Given the description of an element on the screen output the (x, y) to click on. 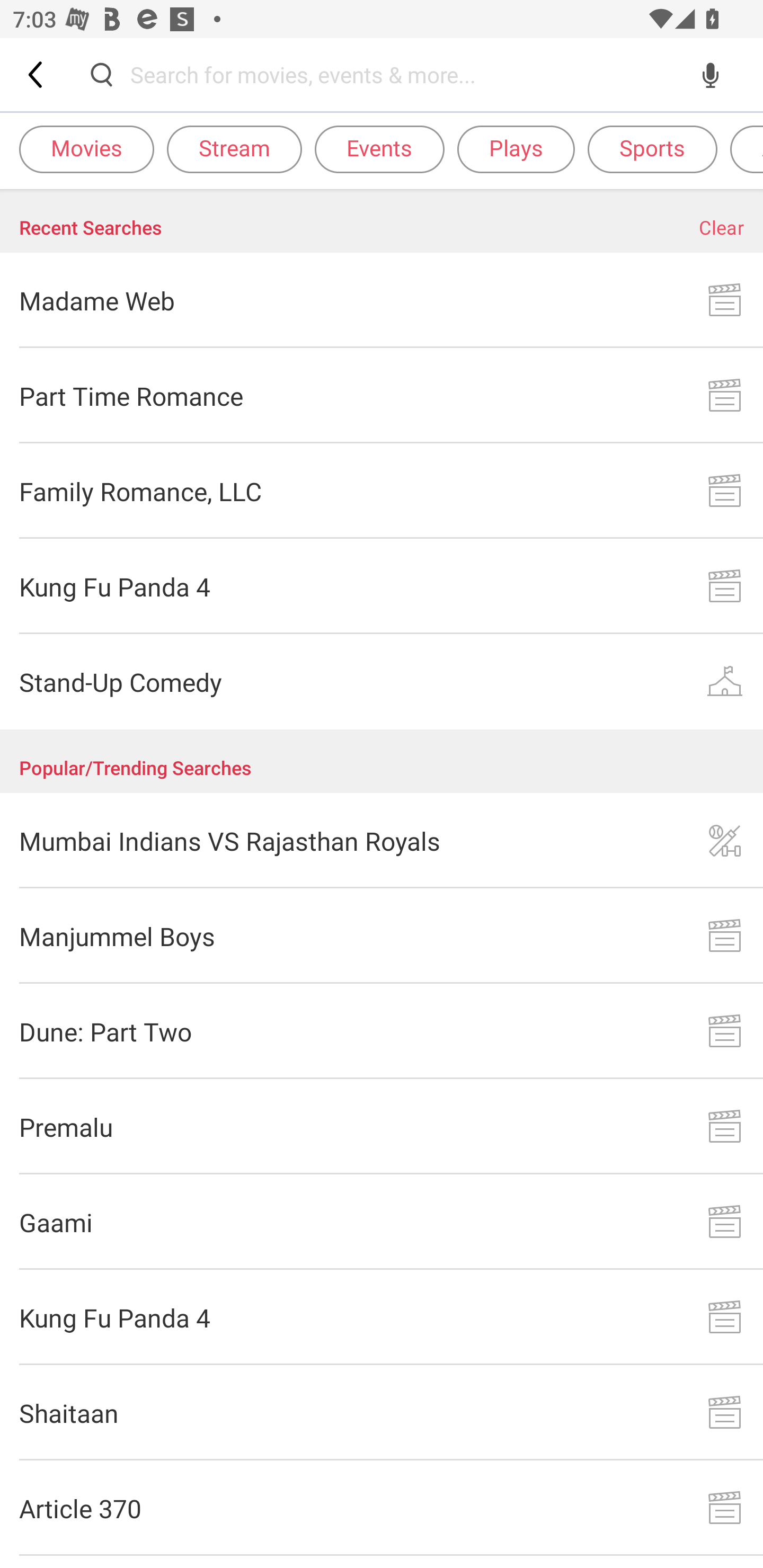
Back (36, 74)
Search for movies, events & more... (406, 74)
Movies (86, 148)
Stream (234, 148)
Events (379, 148)
Plays (515, 148)
Sports (652, 148)
Recent Searches Clear (381, 220)
Madame Web (381, 300)
Part Time Romance (381, 395)
Family Romance, LLC (381, 491)
Kung Fu Panda 4 (381, 586)
Stand-Up Comedy (381, 681)
Popular/Trending Searches (381, 761)
Mumbai Indians VS Rajasthan Royals (381, 841)
Manjummel Boys (381, 936)
Dune: Part Two (381, 1030)
Premalu (381, 1126)
Gaami (381, 1222)
Kung Fu Panda 4 (381, 1317)
Shaitaan (381, 1412)
Article 370 (381, 1507)
